Given the description of an element on the screen output the (x, y) to click on. 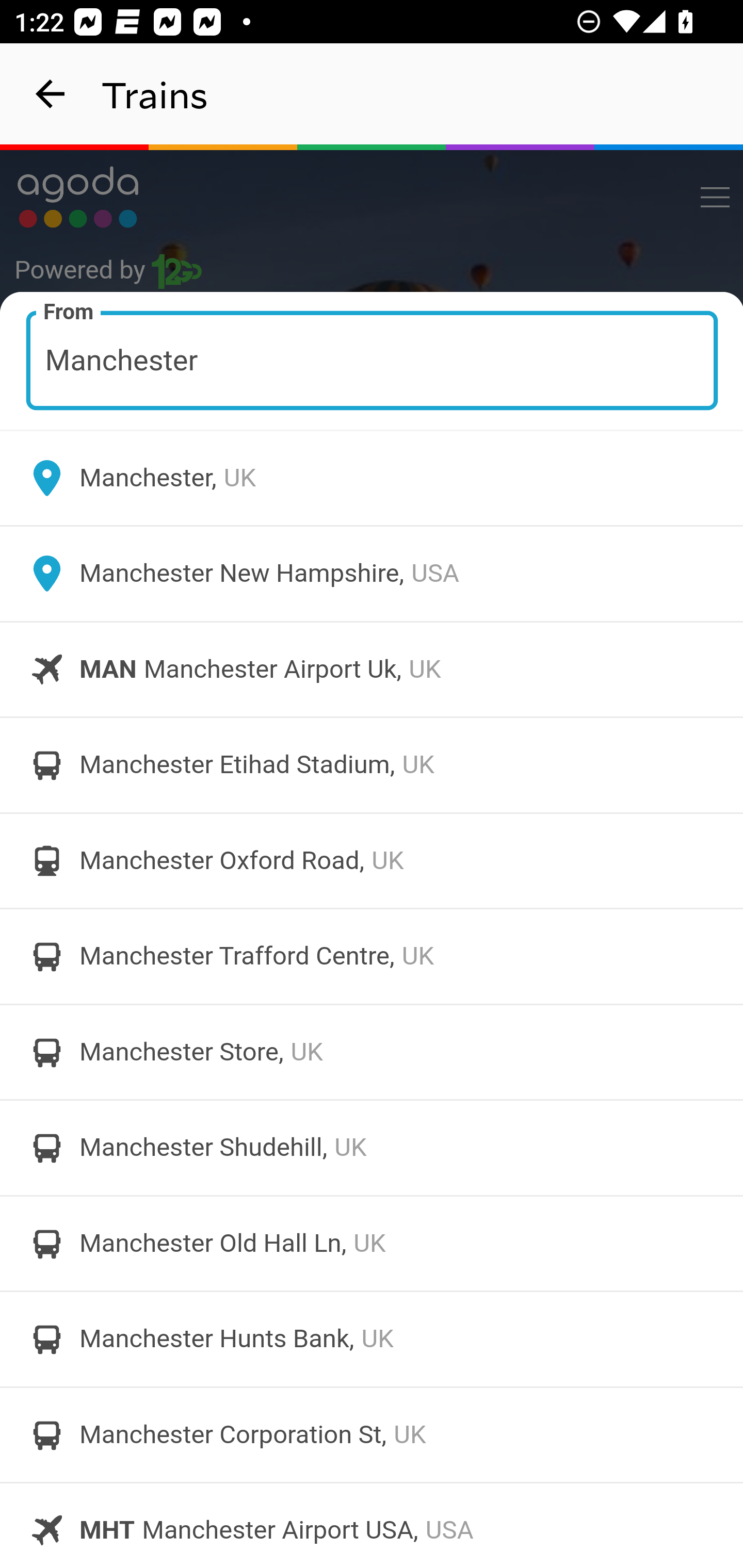
navigation_button (50, 93)
Manchester (372, 359)
Manchester,UK (371, 477)
Manchester New Hampshire,USA (371, 573)
MAN Manchester Airport Uk , UK (371, 669)
Manchester Etihad Stadium,UK (371, 764)
Manchester Oxford Road,UK (371, 860)
Manchester Trafford Centre,UK (371, 956)
Manchester Store,UK (371, 1051)
Manchester Shudehill,UK (371, 1147)
Manchester Old Hall Ln,UK (371, 1243)
Manchester Hunts Bank,UK (371, 1339)
Manchester Corporation St,UK (371, 1434)
MHT Manchester Airport USA , USA (371, 1524)
